Given the description of an element on the screen output the (x, y) to click on. 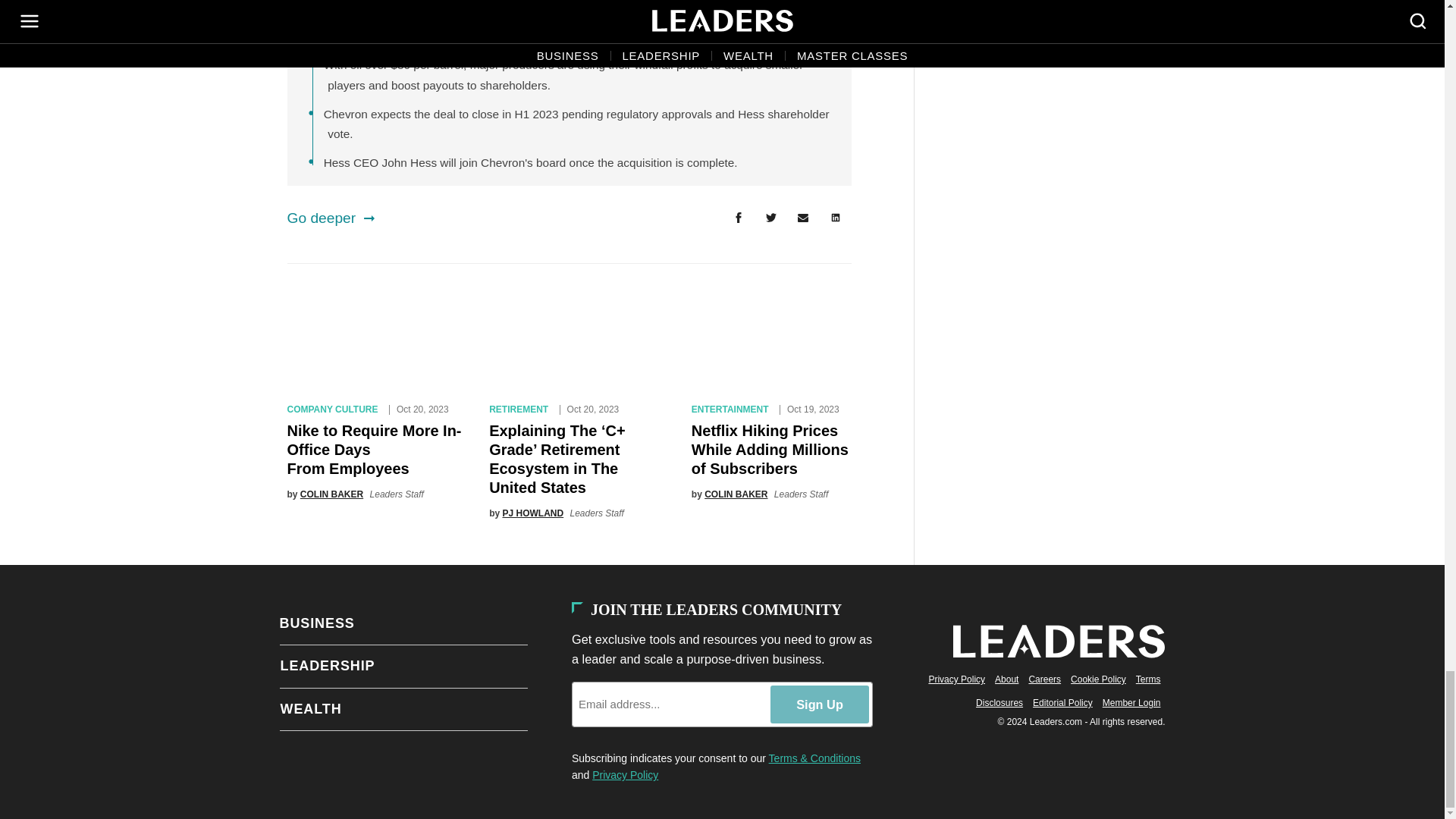
Share on LinkedIn (835, 218)
Share on Facebook (738, 218)
Share on Twitter (770, 218)
Share via Email (803, 218)
Sign Up (819, 704)
